Given the description of an element on the screen output the (x, y) to click on. 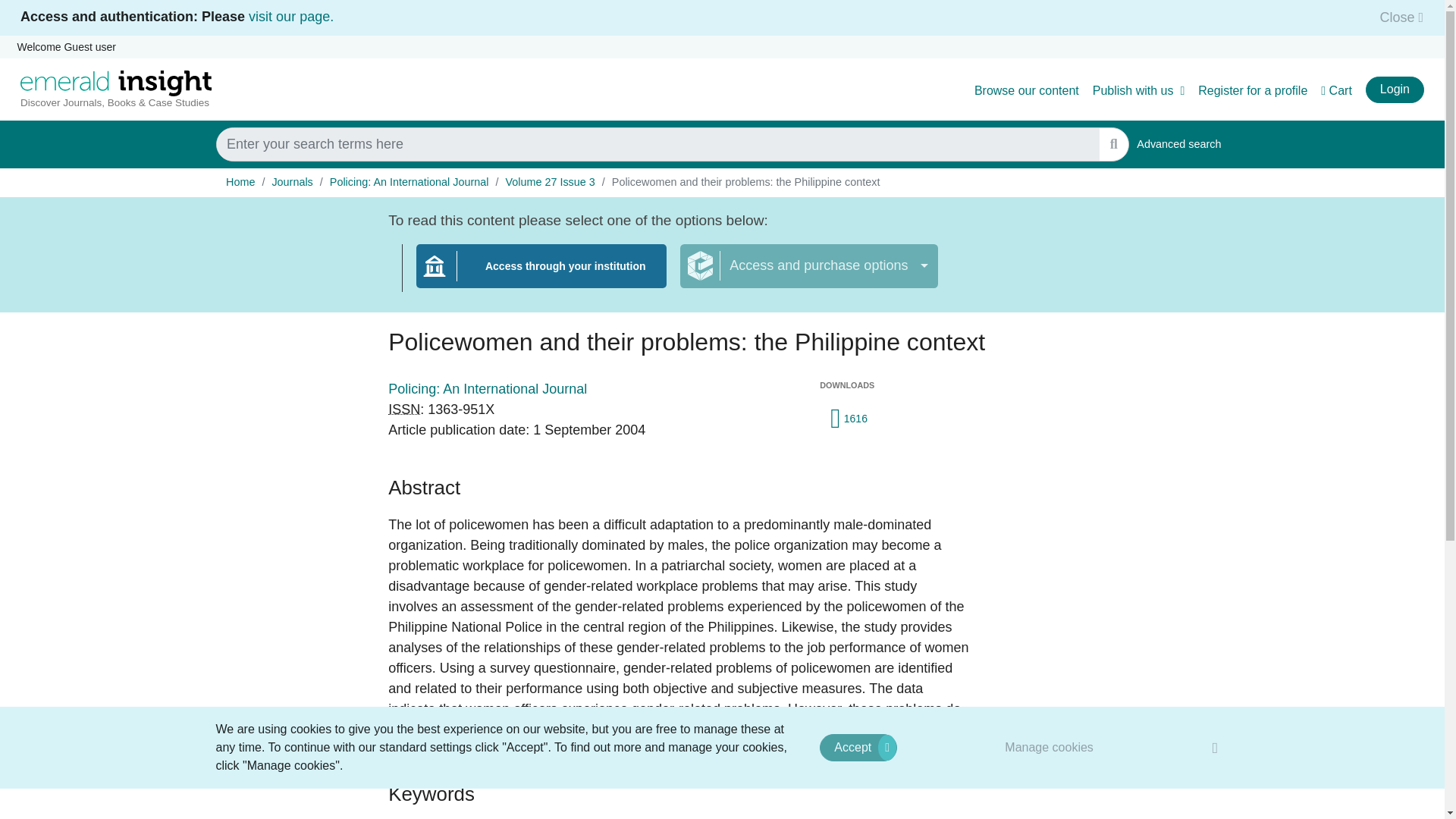
Cart (1336, 90)
Browse our content (1026, 90)
Publish with us (1139, 90)
visit our page. (290, 16)
Home (239, 182)
International Standard Serial Number. (404, 409)
SUBMIT (1113, 143)
Access through your institution (1178, 144)
